Given the description of an element on the screen output the (x, y) to click on. 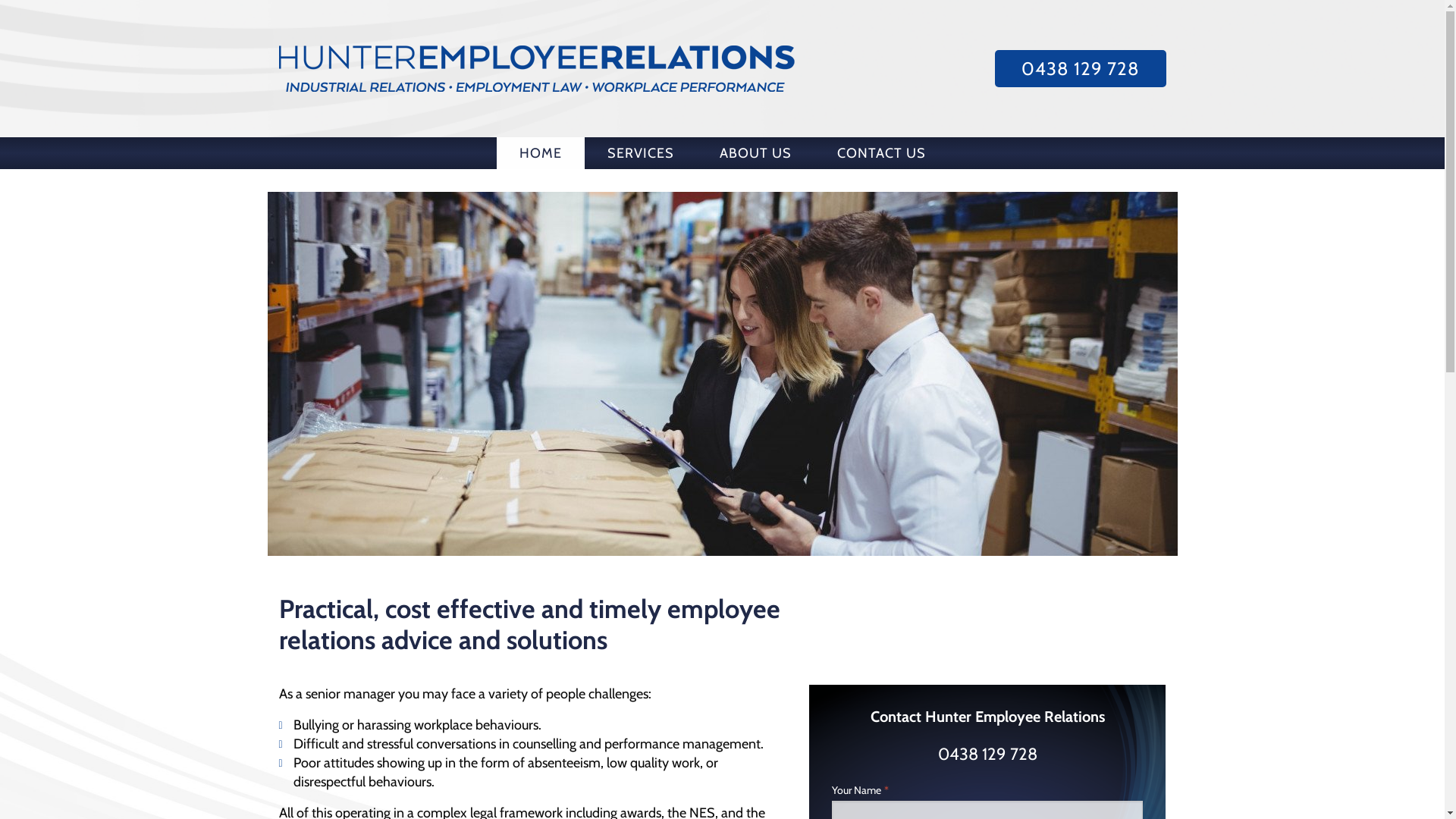
0438 129 728 Element type: text (1080, 68)
HOME Element type: text (539, 153)
CONTACT US Element type: text (881, 153)
SERVICES Element type: text (639, 153)
ABOUT US Element type: text (754, 153)
0438 129 728 Element type: text (987, 753)
